Given the description of an element on the screen output the (x, y) to click on. 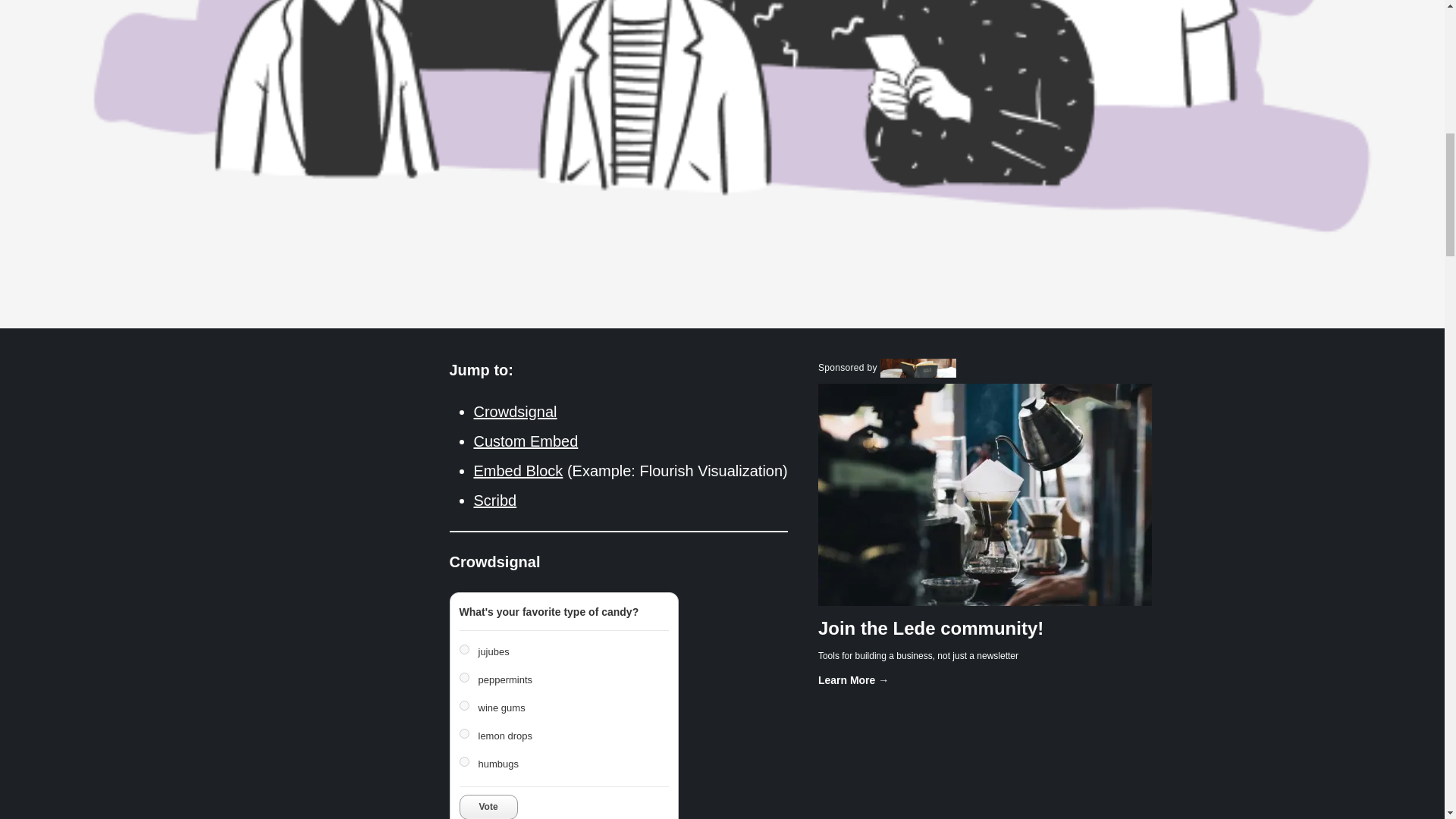
Custom Embed (525, 441)
28438714 (464, 761)
Scribd (494, 500)
28042170 (464, 649)
28438712 (464, 705)
Crowdsignal (514, 411)
28438713 (464, 733)
28042171 (464, 677)
Embed Block (517, 470)
